Given the description of an element on the screen output the (x, y) to click on. 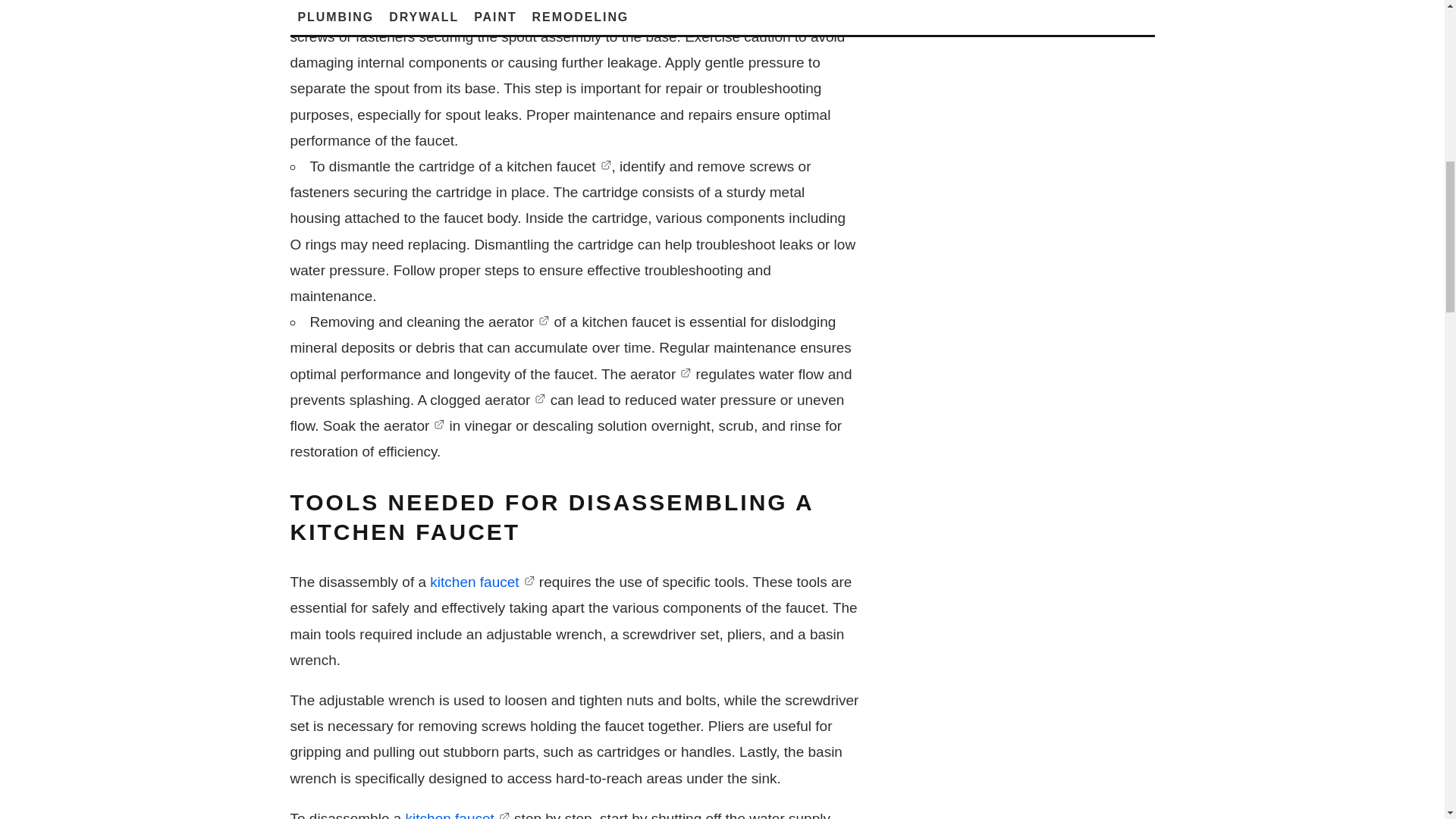
kitchen faucet (638, 10)
aerator (518, 321)
aerator (660, 373)
kitchen faucet (558, 166)
